Given the description of an element on the screen output the (x, y) to click on. 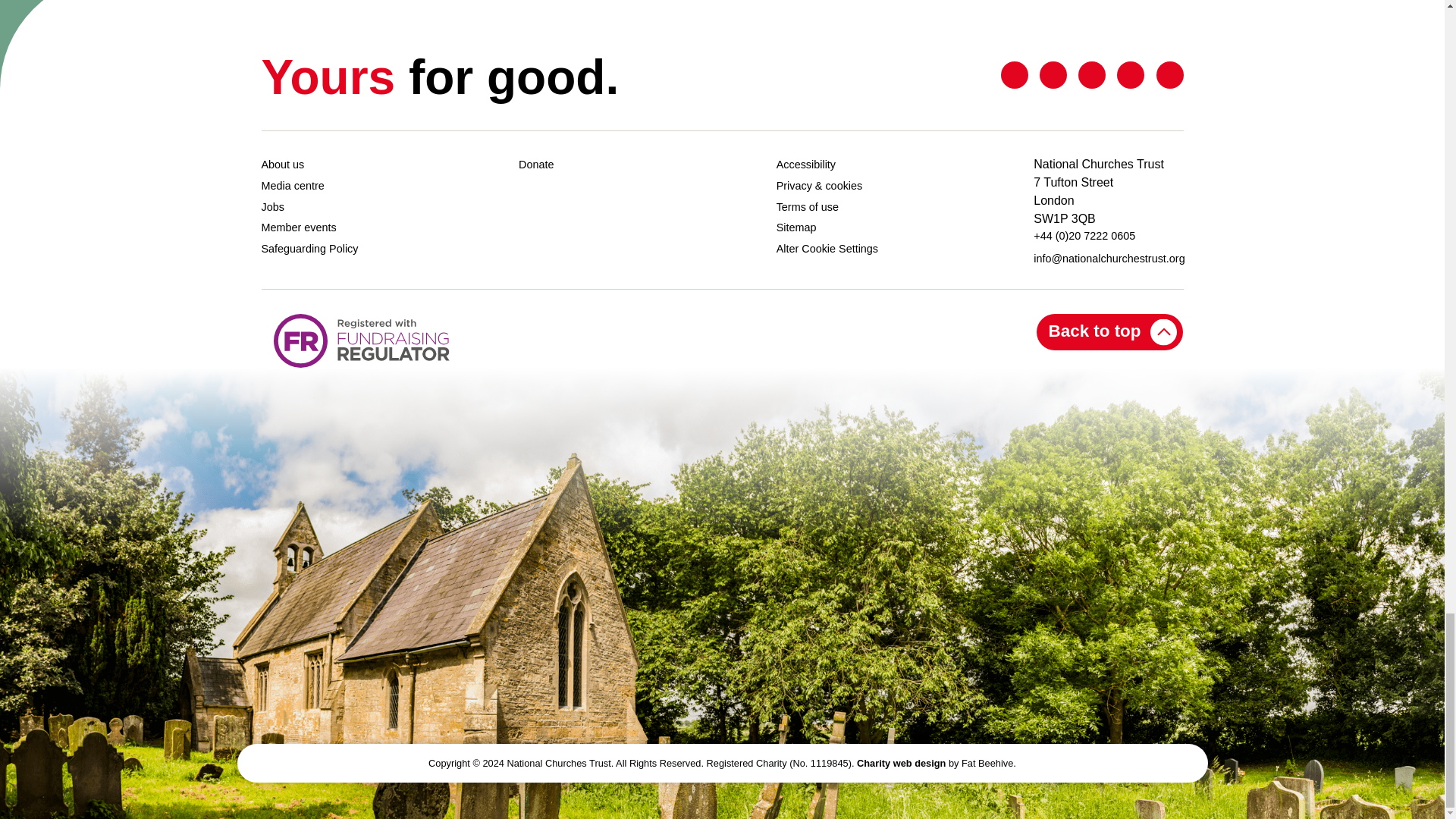
Linkedin (1091, 75)
Facebook (1052, 75)
Instagram (1168, 75)
Youtube (1130, 75)
Twitter (1014, 75)
